Given the description of an element on the screen output the (x, y) to click on. 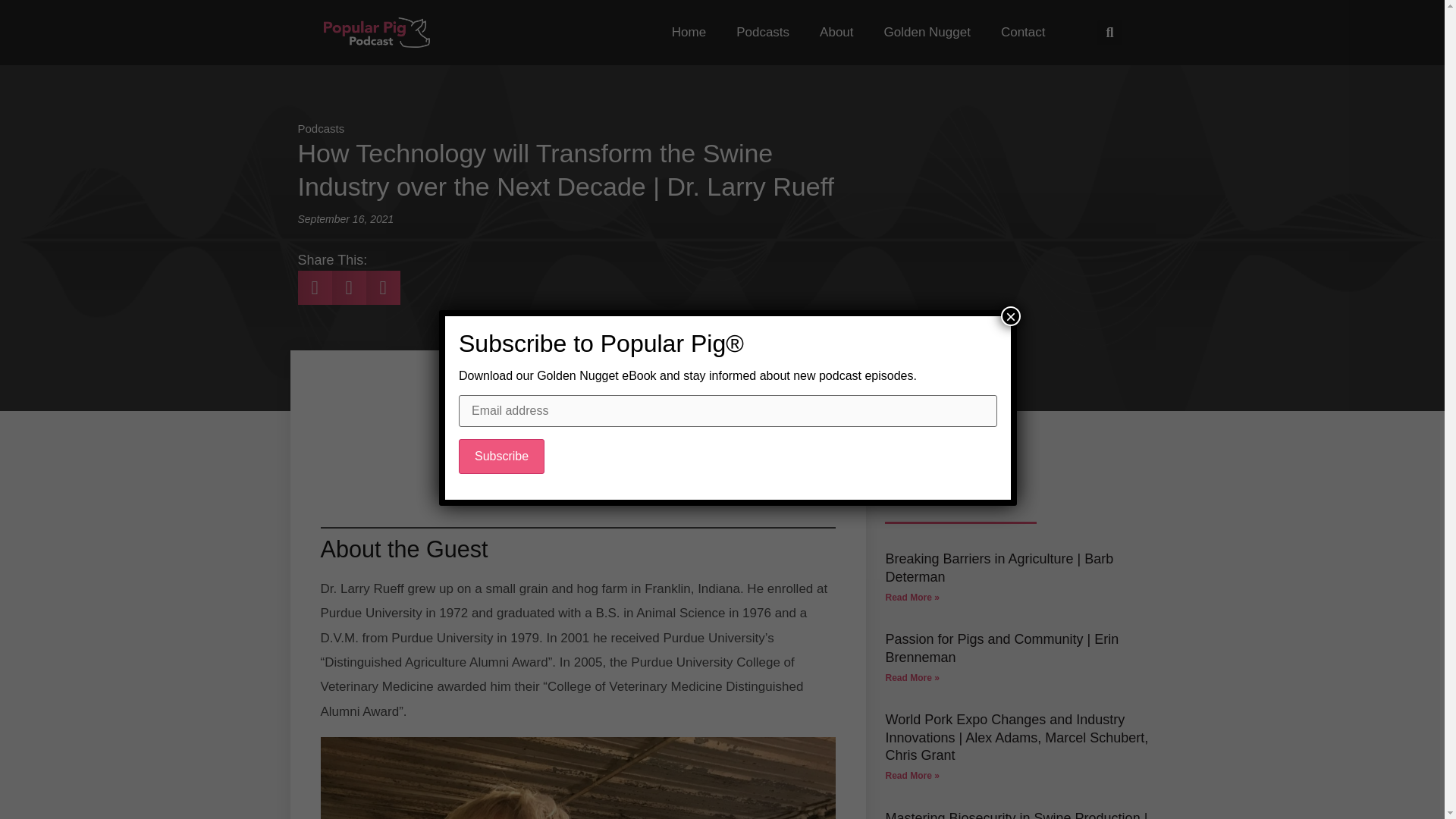
Podcasts (762, 32)
Contact (1023, 32)
Golden Nugget (927, 32)
Home (688, 32)
Podcasts (320, 128)
Subscribe (501, 456)
About (836, 32)
Blubrry Podcast Player (577, 443)
